Given the description of an element on the screen output the (x, y) to click on. 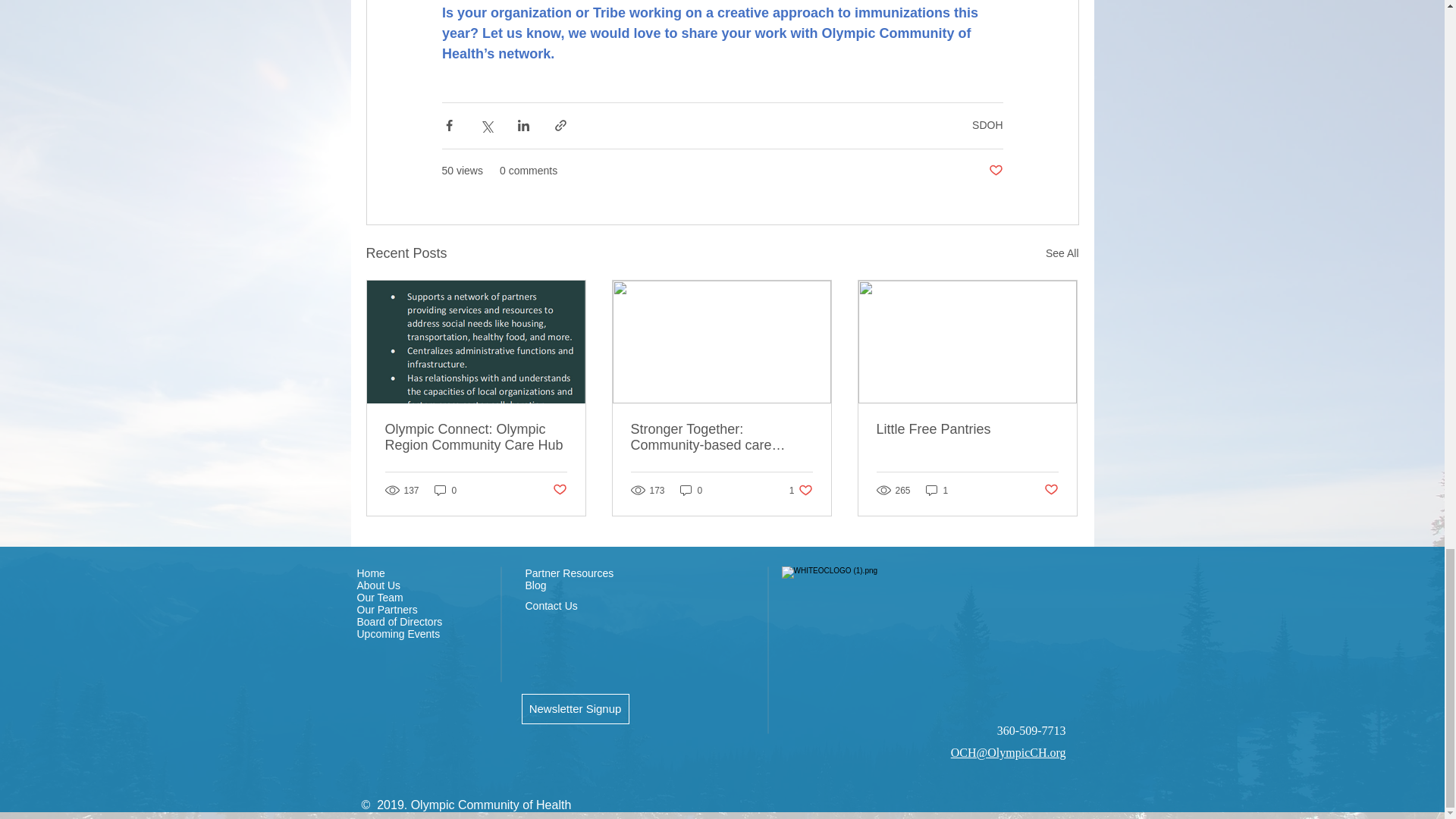
Olympic Connect: Olympic Region Community Care Hub (476, 437)
Post not marked as liked (558, 489)
See All (1061, 253)
Post not marked as liked (995, 170)
0 (445, 490)
SDOH (987, 124)
